Given the description of an element on the screen output the (x, y) to click on. 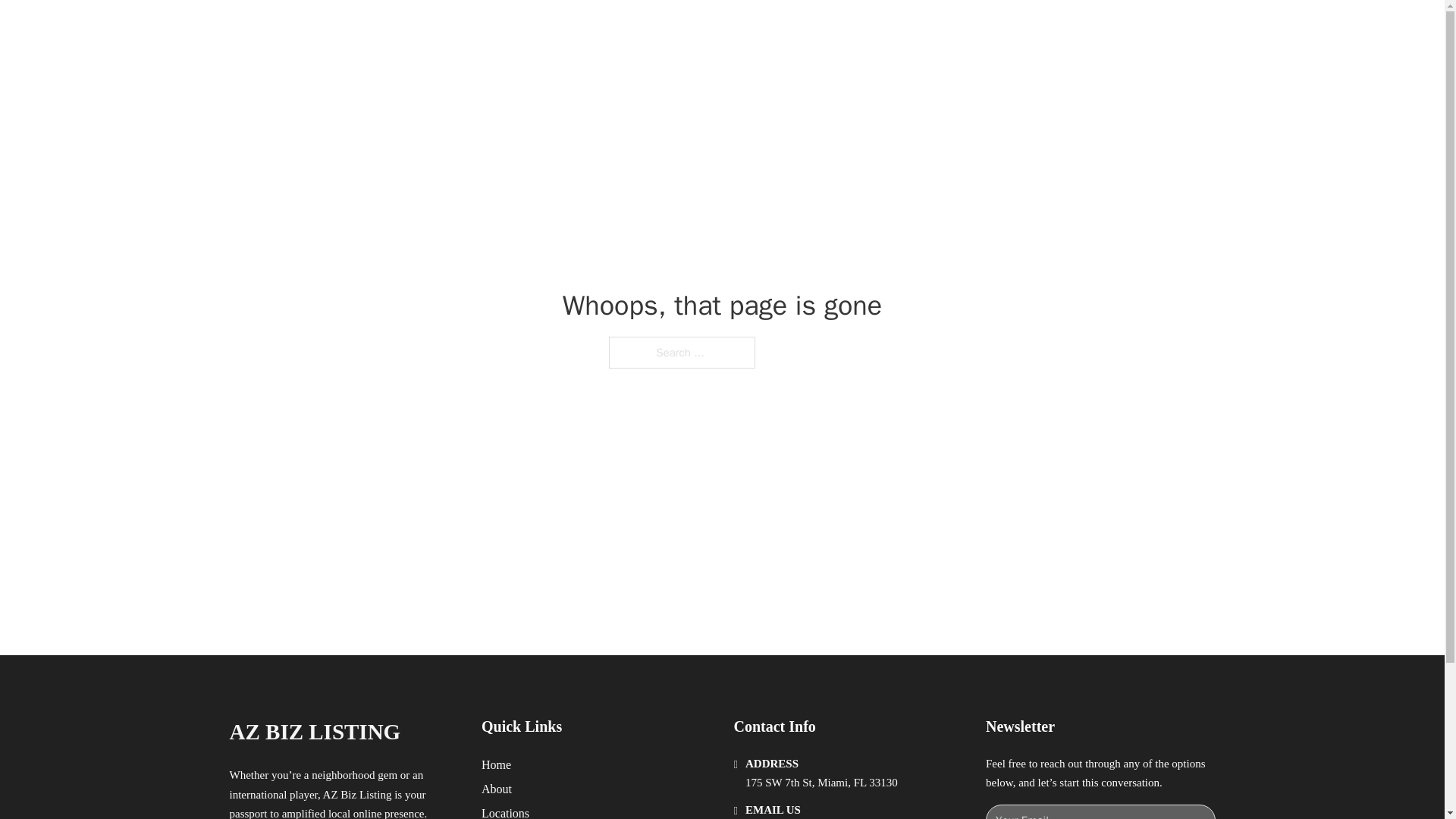
AZ BIZ LISTING (314, 732)
AZ BIZ LISTING (387, 28)
Home (496, 764)
LOCATIONS (990, 29)
HOME (919, 29)
Locations (505, 811)
About (496, 788)
